Given the description of an element on the screen output the (x, y) to click on. 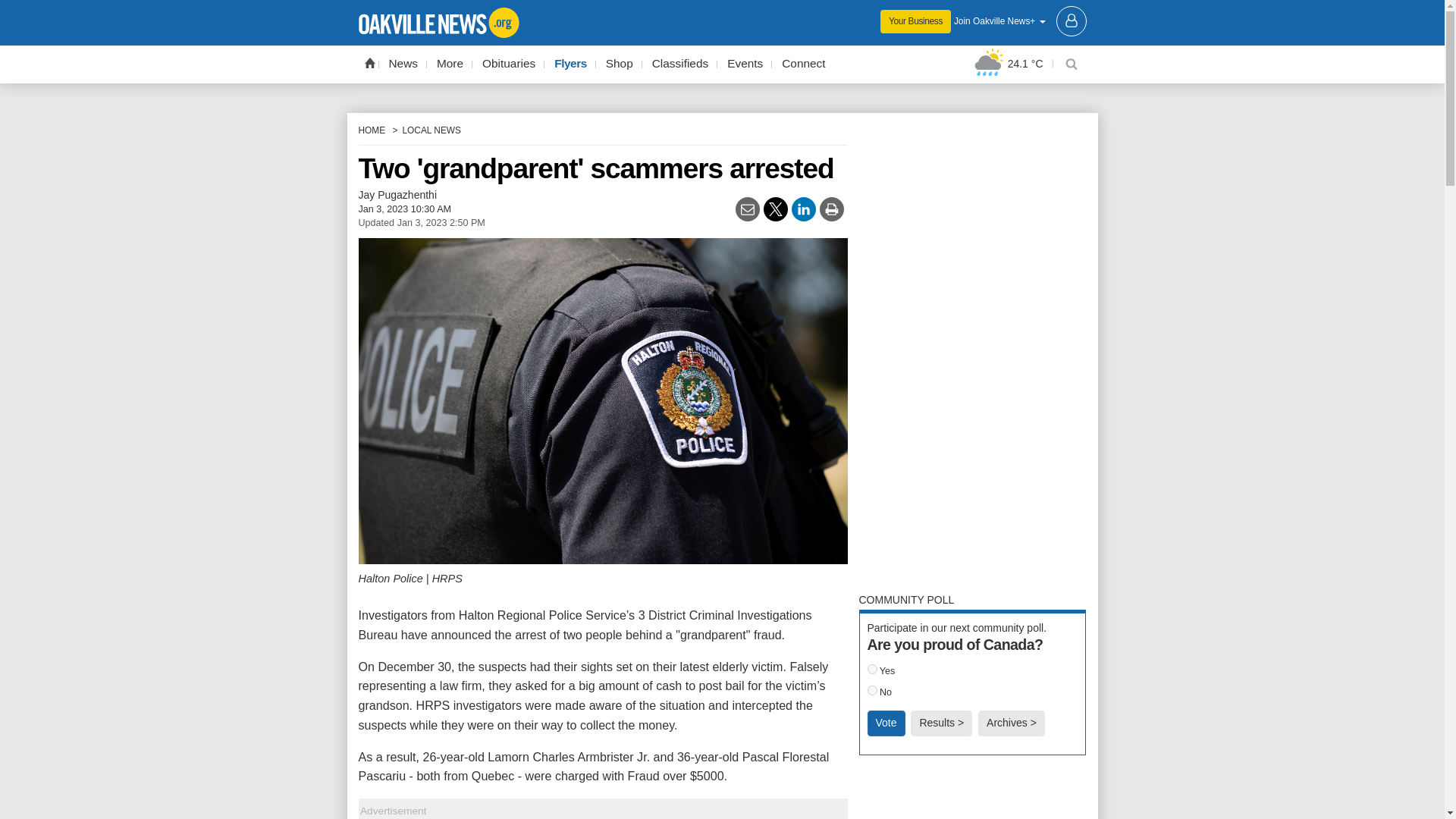
3rd party ad content (972, 351)
3rd party ad content (972, 794)
122182 (872, 669)
News (403, 64)
Your Business (915, 21)
Home (368, 62)
122183 (872, 690)
